Given the description of an element on the screen output the (x, y) to click on. 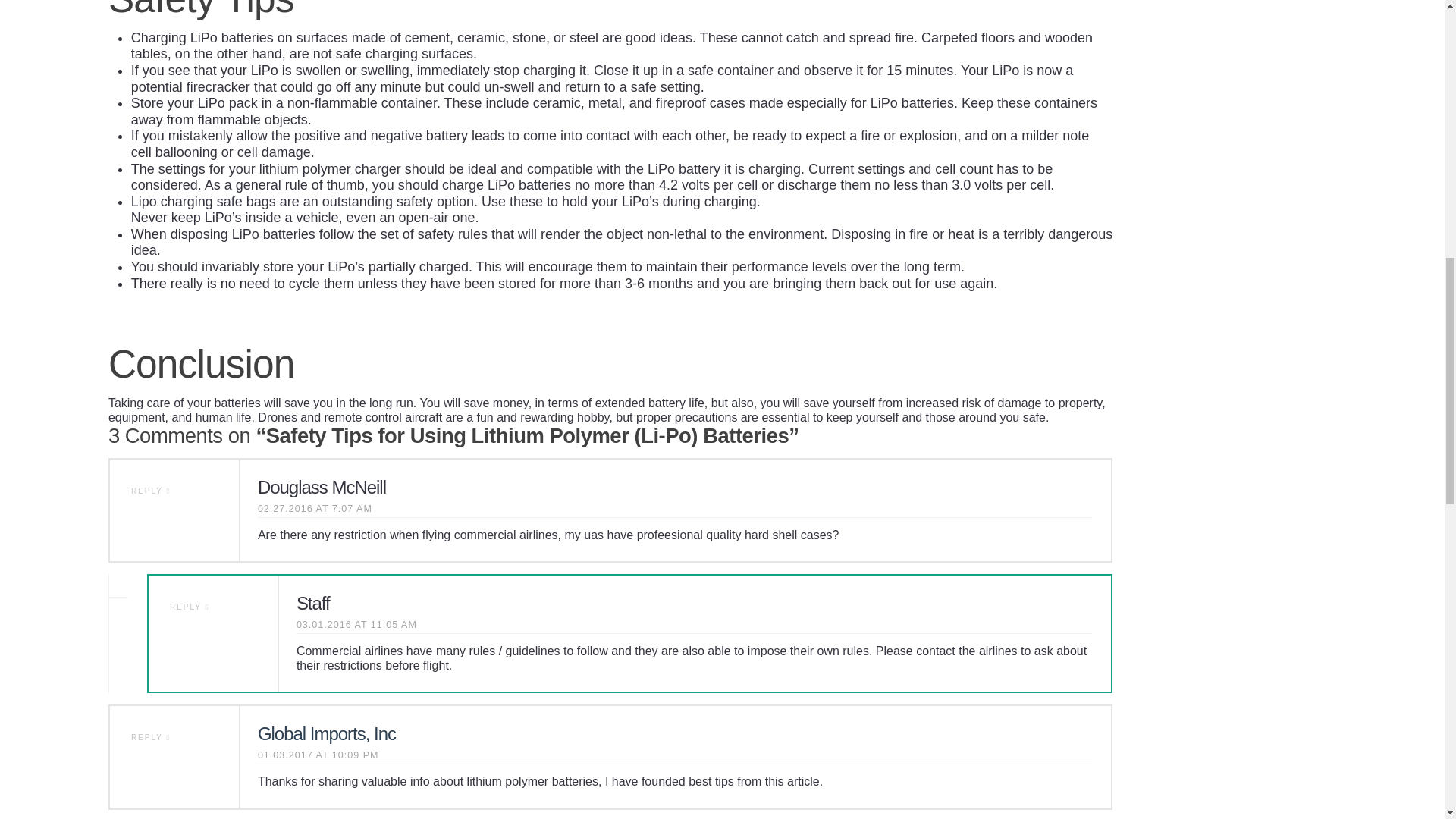
REPLY (150, 737)
03.01.2016 AT 11:05 AM (356, 624)
02.27.2016 AT 7:07 AM (314, 509)
Global Imports, Inc (326, 733)
REPLY (150, 490)
01.03.2017 AT 10:09 PM (317, 755)
REPLY (189, 606)
